Given the description of an element on the screen output the (x, y) to click on. 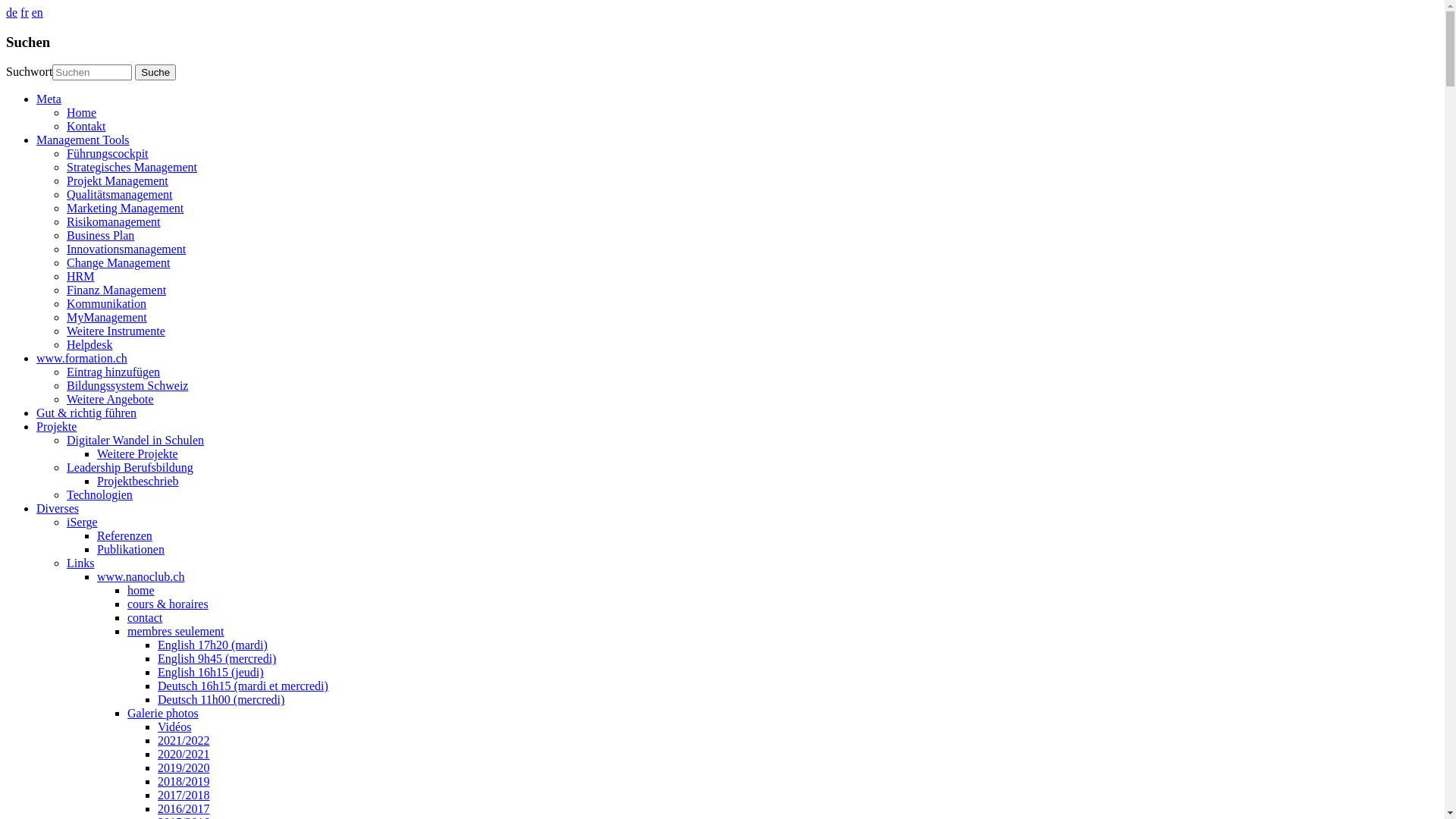
2019/2020 Element type: text (183, 767)
Helpdesk Element type: text (89, 344)
Finanz Management Element type: text (116, 289)
Links Element type: text (80, 562)
Home Element type: text (81, 112)
Meta Element type: text (48, 98)
Business Plan Element type: text (100, 235)
iSerge Element type: text (81, 521)
fr Element type: text (24, 12)
Bildungssystem Schweiz Element type: text (127, 385)
Weitere Instrumente Element type: text (115, 330)
Change Management Element type: text (117, 262)
membres seulement Element type: text (175, 630)
Referenzen Element type: text (124, 535)
www.nanoclub.ch Element type: text (140, 576)
Deutsch 16h15 (mardi et mercredi) Element type: text (242, 685)
home Element type: text (140, 589)
cours & horaires Element type: text (167, 603)
2020/2021 Element type: text (183, 753)
en Element type: text (37, 12)
www.formation.ch Element type: text (81, 357)
Weitere Projekte Element type: text (137, 453)
Leadership Berufsbildung Element type: text (129, 467)
English 9h45 (mercredi) Element type: text (216, 658)
2016/2017 Element type: text (183, 808)
2018/2019 Element type: text (183, 781)
Suche Element type: text (154, 72)
Innovationsmanagement Element type: text (125, 248)
Projektbeschrieb Element type: text (137, 480)
Diverses Element type: text (57, 508)
Digitaler Wandel in Schulen Element type: text (134, 439)
MyManagement Element type: text (106, 316)
de Element type: text (11, 12)
2017/2018 Element type: text (183, 794)
Risikomanagement Element type: text (113, 221)
Deutsch 11h00 (mercredi) Element type: text (220, 699)
Projekt Management Element type: text (117, 180)
Projekte Element type: text (56, 426)
English 16h15 (jeudi) Element type: text (210, 671)
2021/2022 Element type: text (183, 740)
Strategisches Management Element type: text (131, 166)
Technologien Element type: text (99, 494)
Galerie photos Element type: text (162, 712)
Marketing Management Element type: text (124, 207)
Publikationen Element type: text (130, 548)
Kontakt Element type: text (86, 125)
Kommunikation Element type: text (106, 303)
HRM Element type: text (80, 275)
English 17h20 (mardi) Element type: text (212, 644)
contact Element type: text (144, 617)
Weitere Angebote Element type: text (109, 398)
Management Tools Element type: text (82, 139)
